Given the description of an element on the screen output the (x, y) to click on. 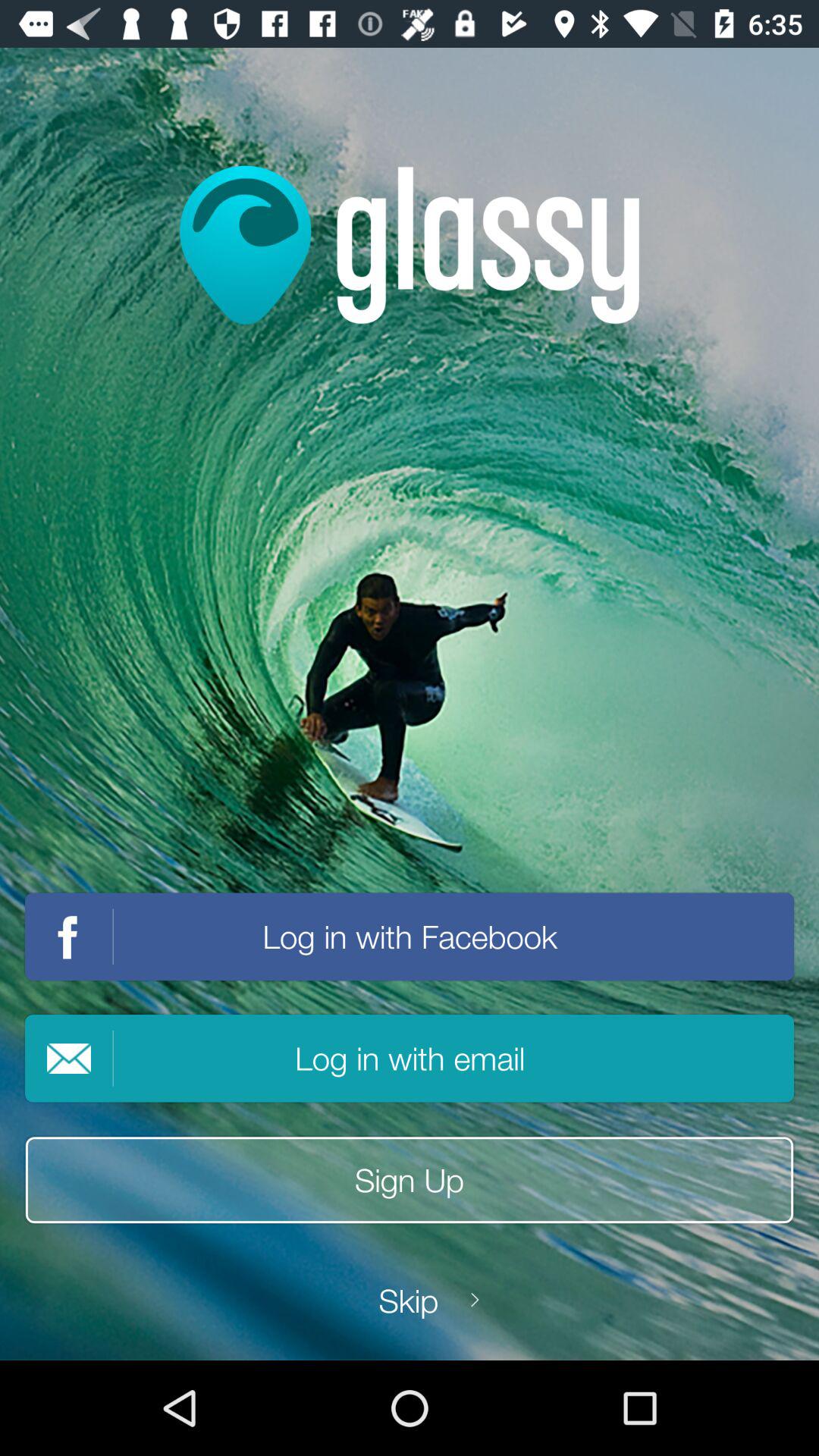
flip until sign up item (409, 1179)
